Given the description of an element on the screen output the (x, y) to click on. 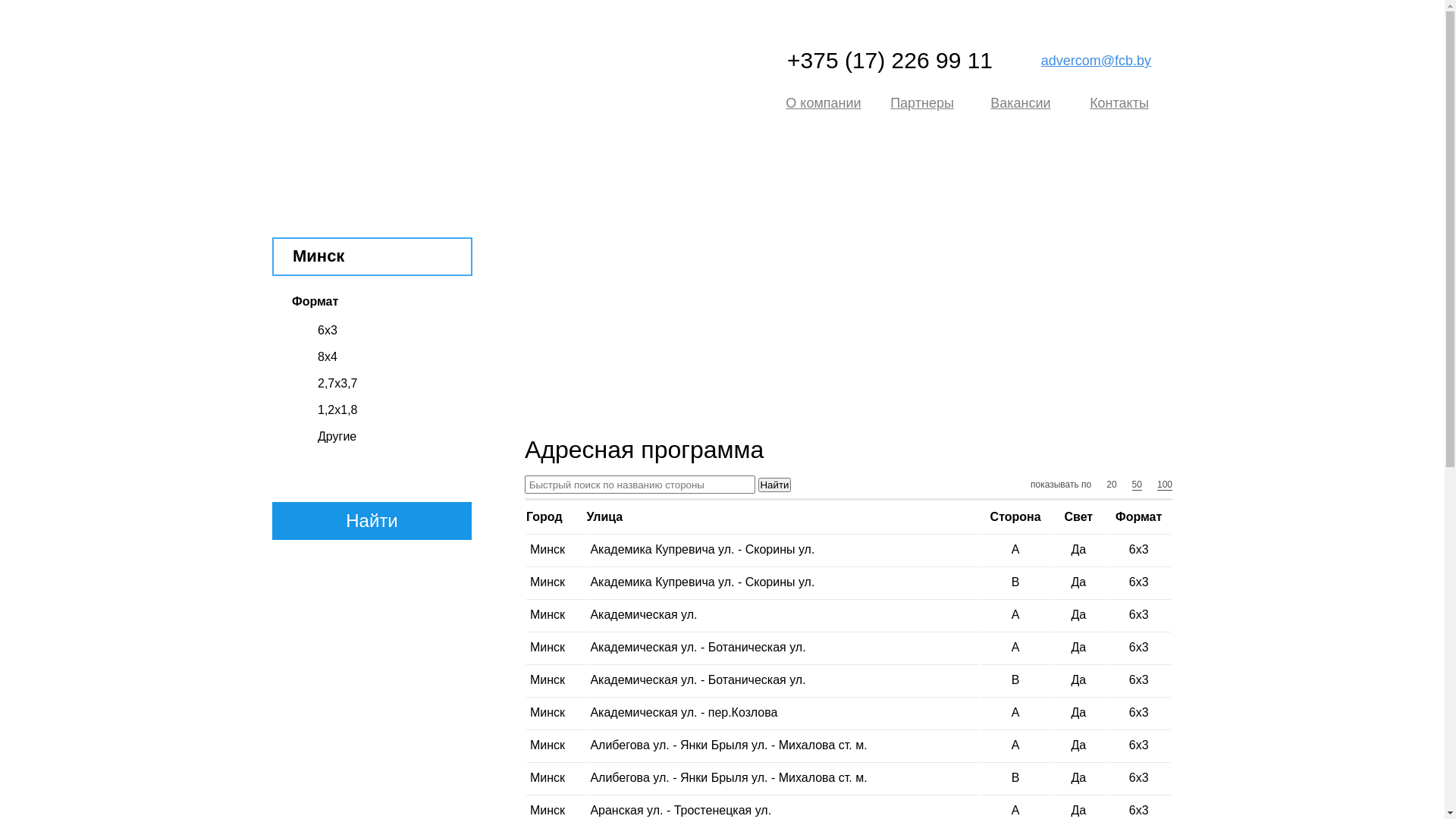
advercom@fcb.by Element type: text (1096, 60)
